Given the description of an element on the screen output the (x, y) to click on. 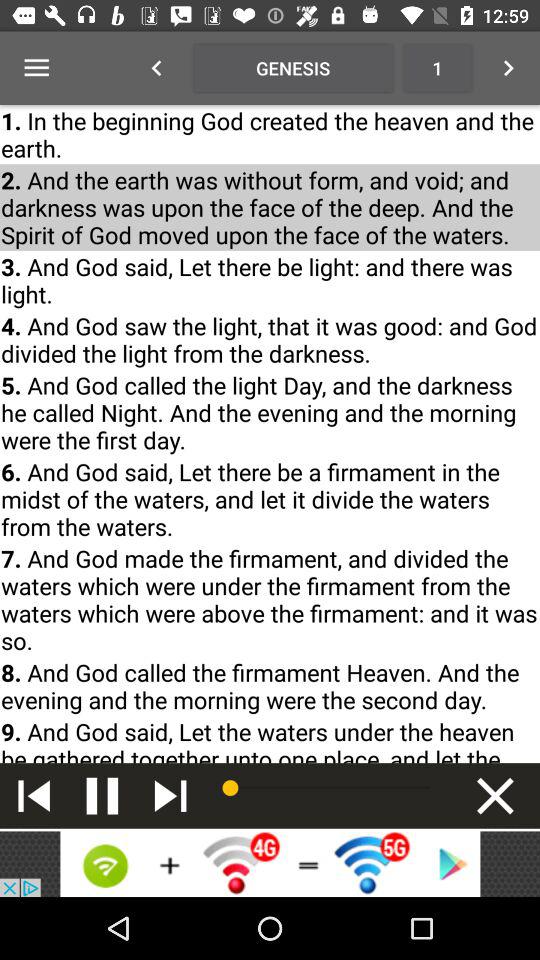
click on right arrow symbol which is just below 1259 (508, 68)
